Given the description of an element on the screen output the (x, y) to click on. 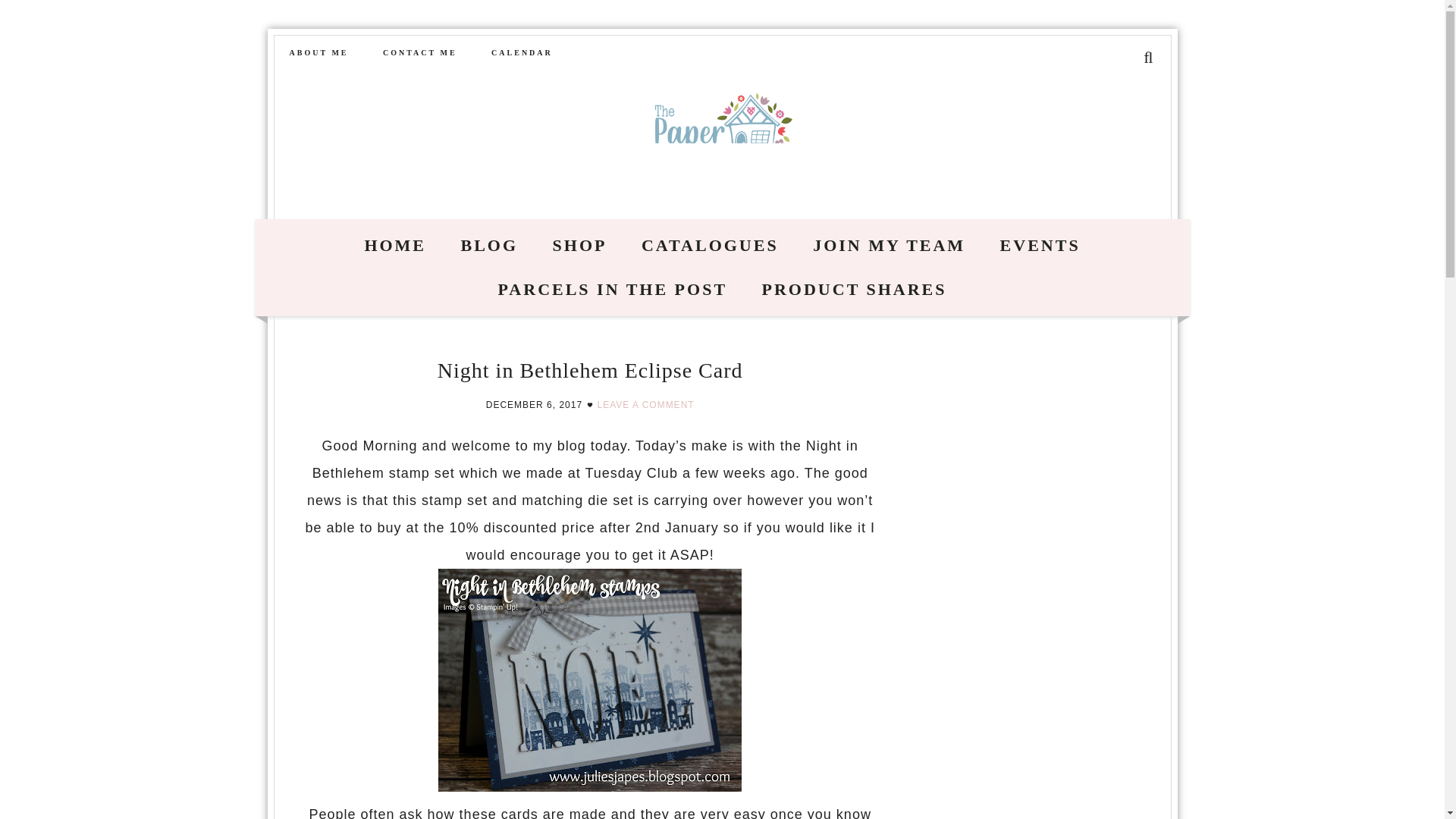
CONTACT ME (419, 53)
PRODUCT SHARES (854, 289)
PARCELS IN THE POST (612, 289)
EVENTS (1040, 245)
ABOUT ME (319, 53)
CALENDAR (521, 53)
HOME (395, 245)
BLOG (489, 245)
The Paper Haven (722, 143)
LEAVE A COMMENT (645, 404)
CATALOGUES (709, 245)
JOIN MY TEAM (888, 245)
SHOP (580, 245)
